Given the description of an element on the screen output the (x, y) to click on. 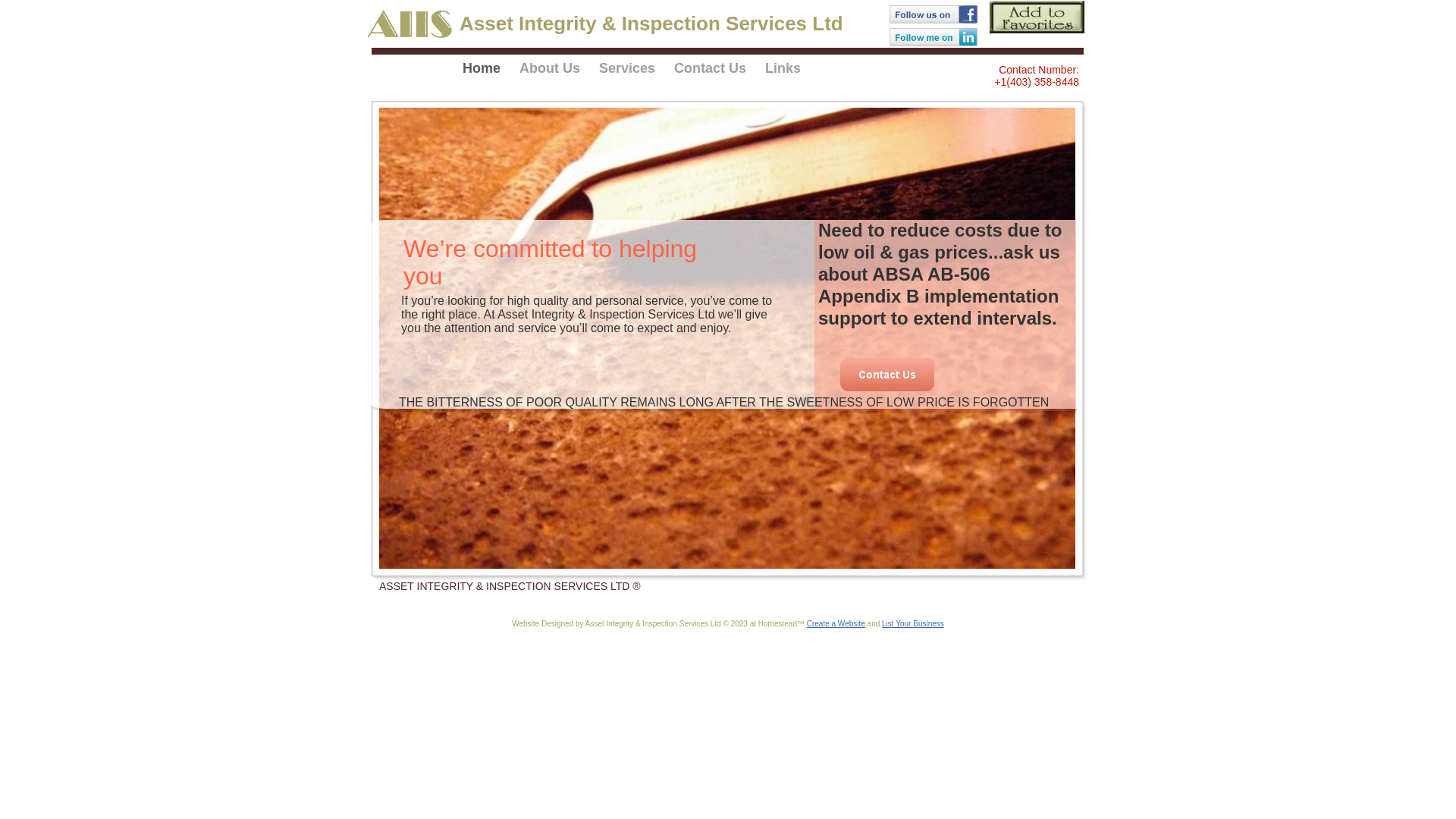
Create a Website Element type: text (835, 623)
List Your Business Element type: text (912, 623)
About Us Element type: text (549, 72)
Services Element type: text (627, 72)
Links Element type: text (778, 72)
Home Element type: text (486, 72)
Contact Us Element type: text (710, 72)
